Given the description of an element on the screen output the (x, y) to click on. 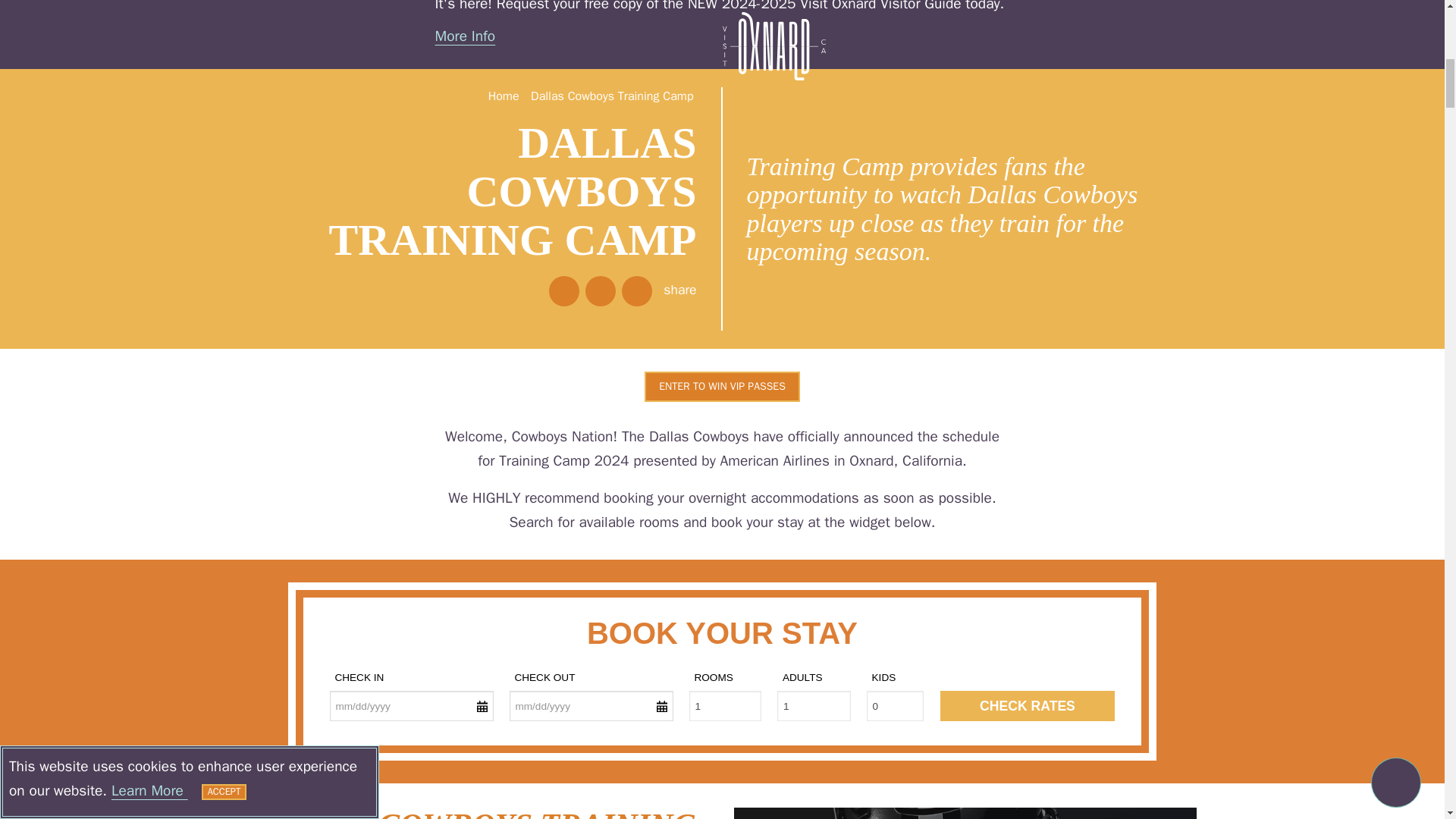
CHECK RATES (1027, 706)
ENTER TO WIN VIP PASSES (721, 385)
Share on Facebook (563, 291)
More Info (465, 36)
Email this page (636, 291)
Dallas Cowboys Training Camp (612, 96)
Home (503, 96)
Share on Twitter (600, 291)
